Given the description of an element on the screen output the (x, y) to click on. 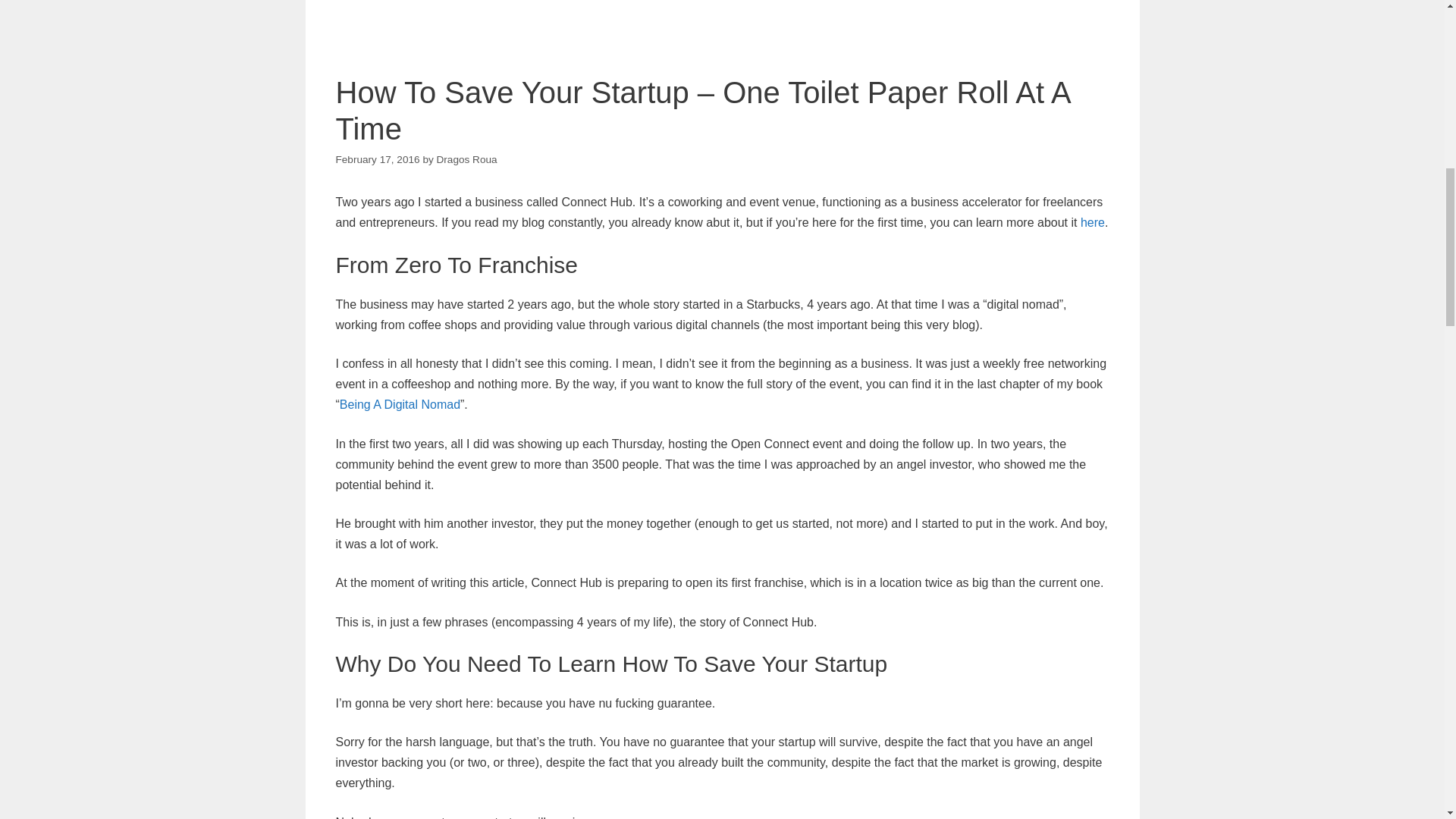
here (1092, 222)
View all posts by Dragos Roua (466, 159)
Being A Digital Nomad (399, 404)
Dragos Roua (466, 159)
